Given the description of an element on the screen output the (x, y) to click on. 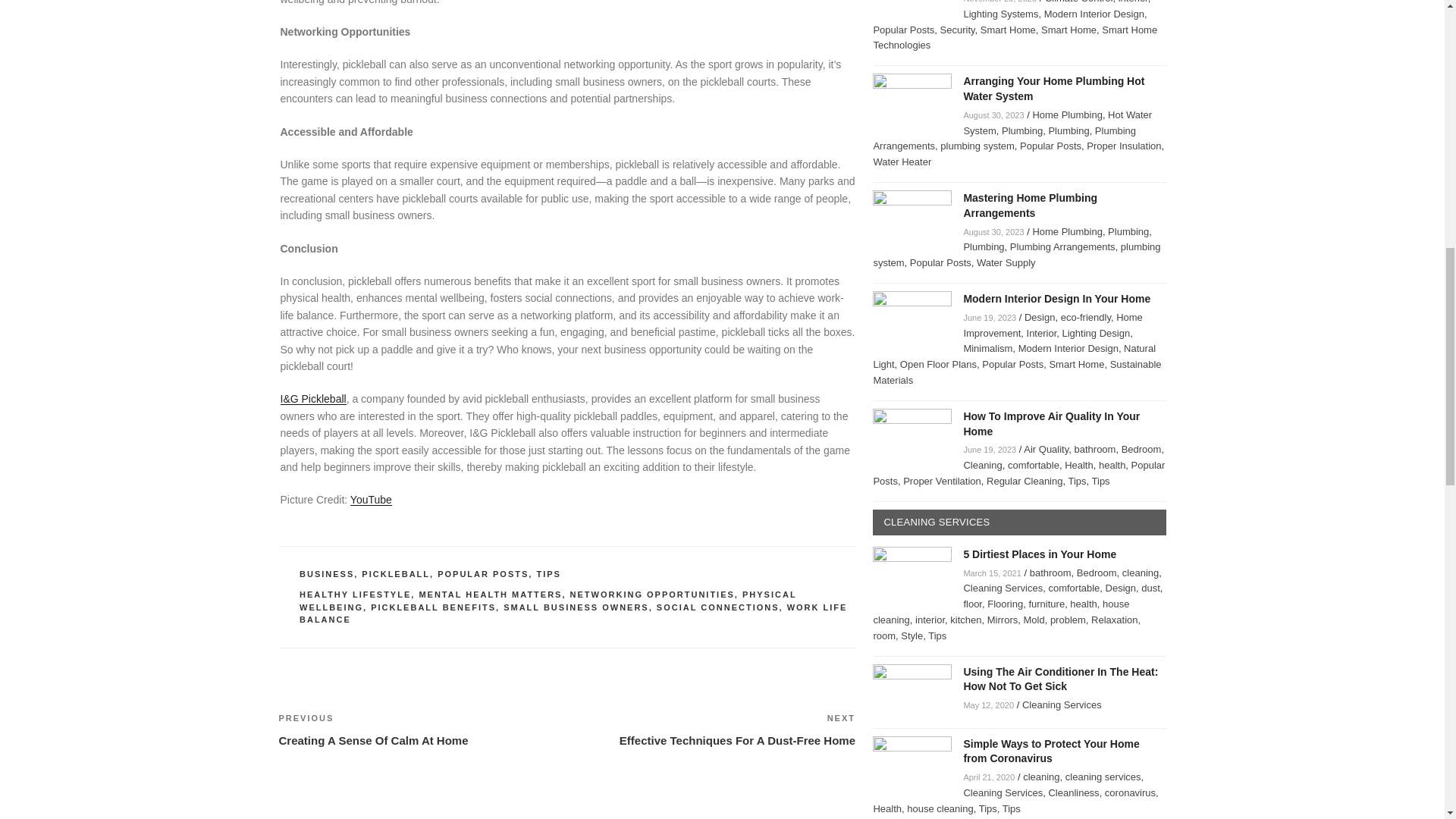
HEALTHY LIFESTYLE (354, 593)
BUSINESS (326, 573)
YouTube (370, 499)
PICKLEBALL (395, 573)
SOCIAL CONNECTIONS (717, 606)
NETWORKING OPPORTUNITIES (711, 729)
POPULAR POSTS (652, 593)
TIPS (483, 573)
